Given the description of an element on the screen output the (x, y) to click on. 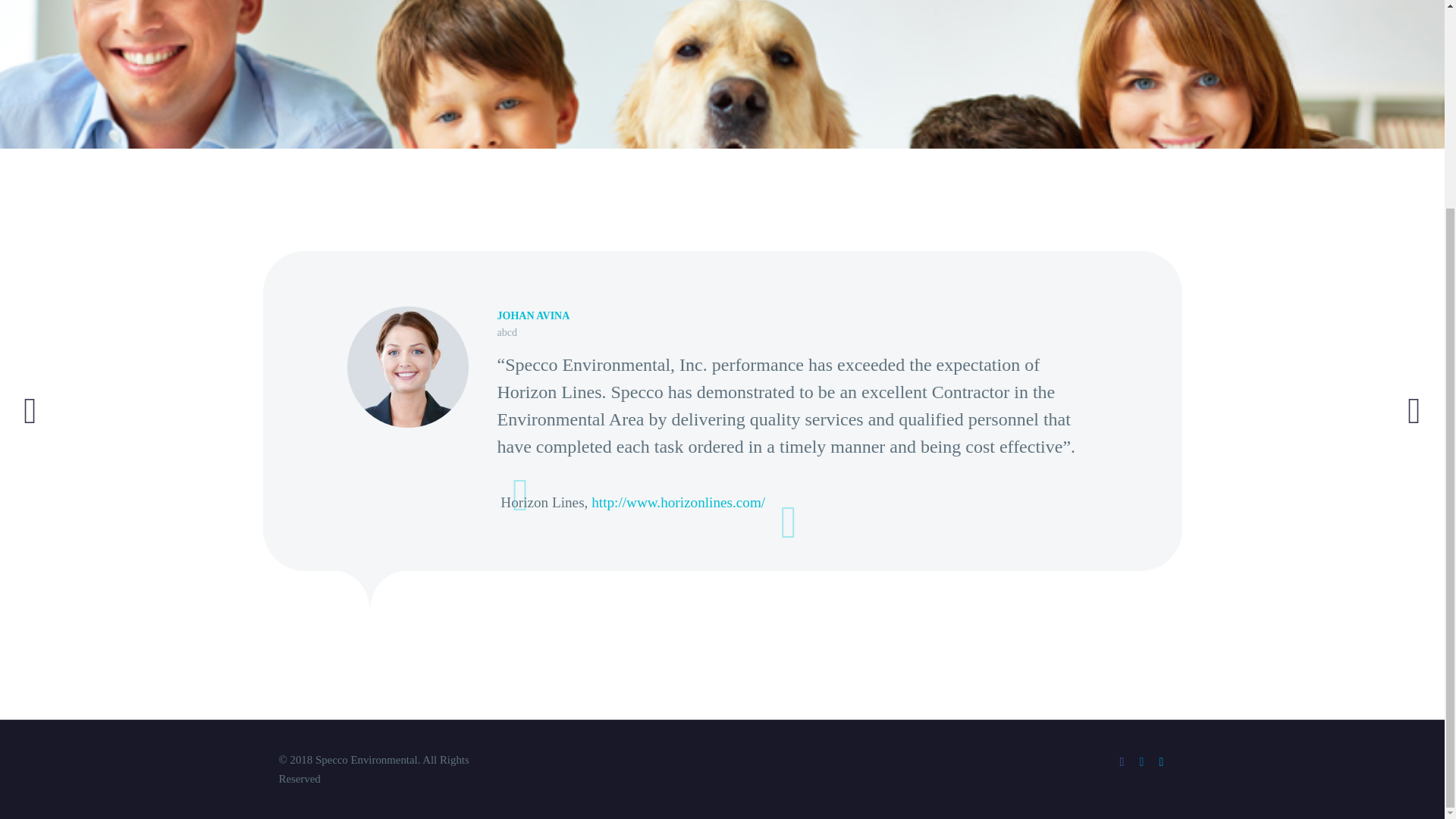
twitter (1161, 761)
linkedin (1141, 761)
facebook (1122, 761)
